Given the description of an element on the screen output the (x, y) to click on. 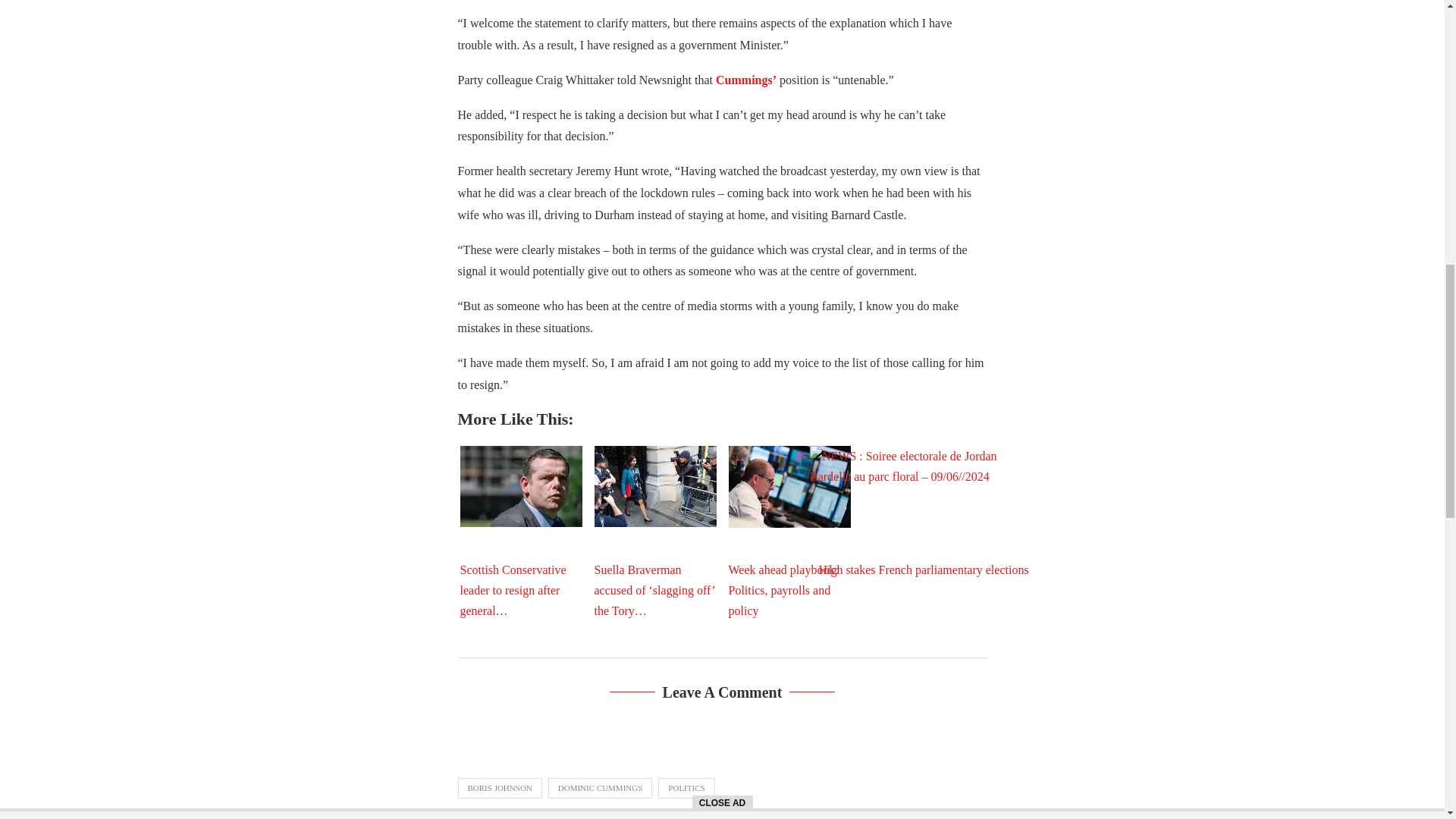
High stakes French parliamentary elections (922, 521)
Week ahead playbook: Politics, payrolls and policy (789, 486)
